Given the description of an element on the screen output the (x, y) to click on. 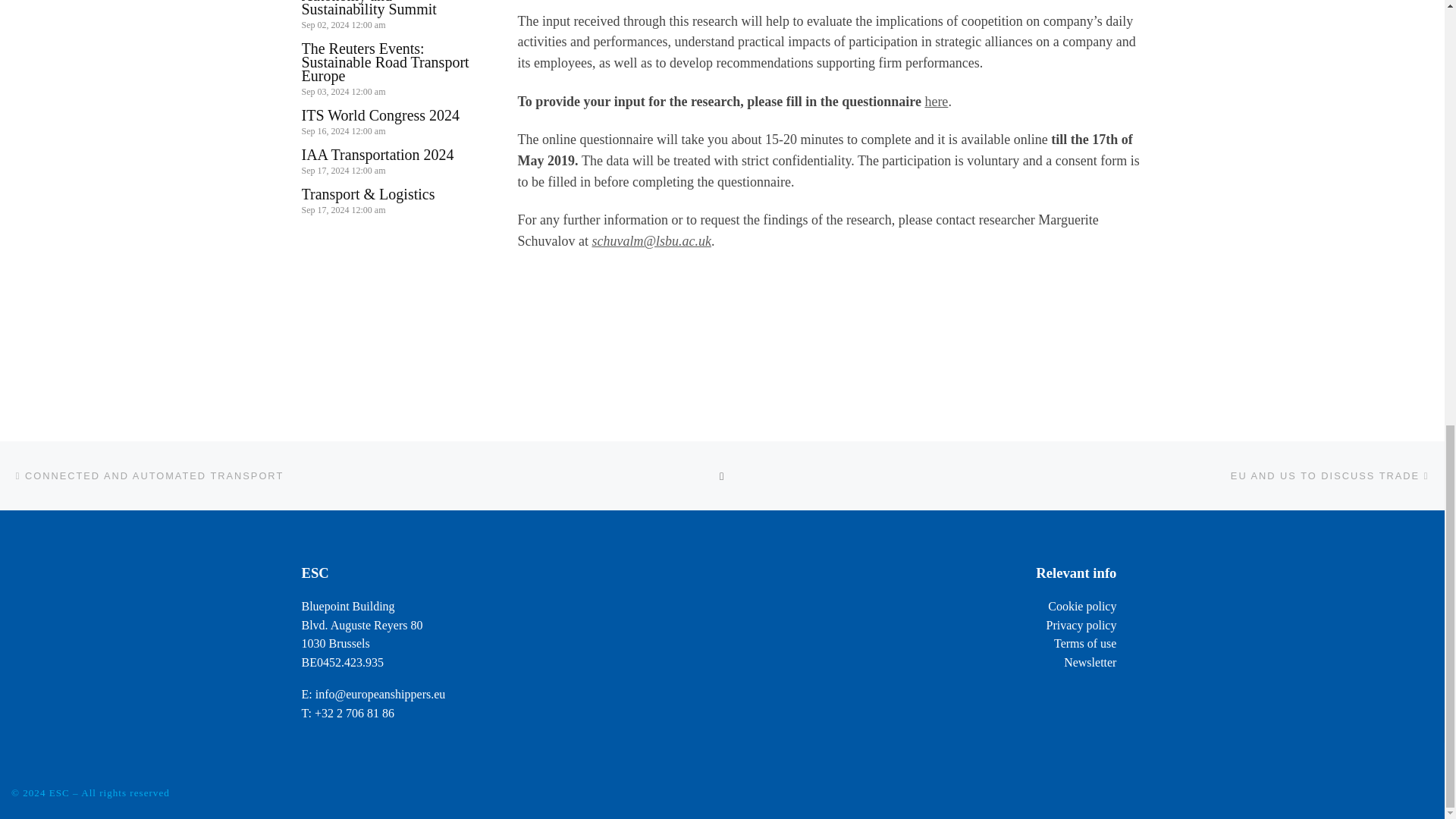
ESC (59, 792)
Back to post list (722, 475)
